Given the description of an element on the screen output the (x, y) to click on. 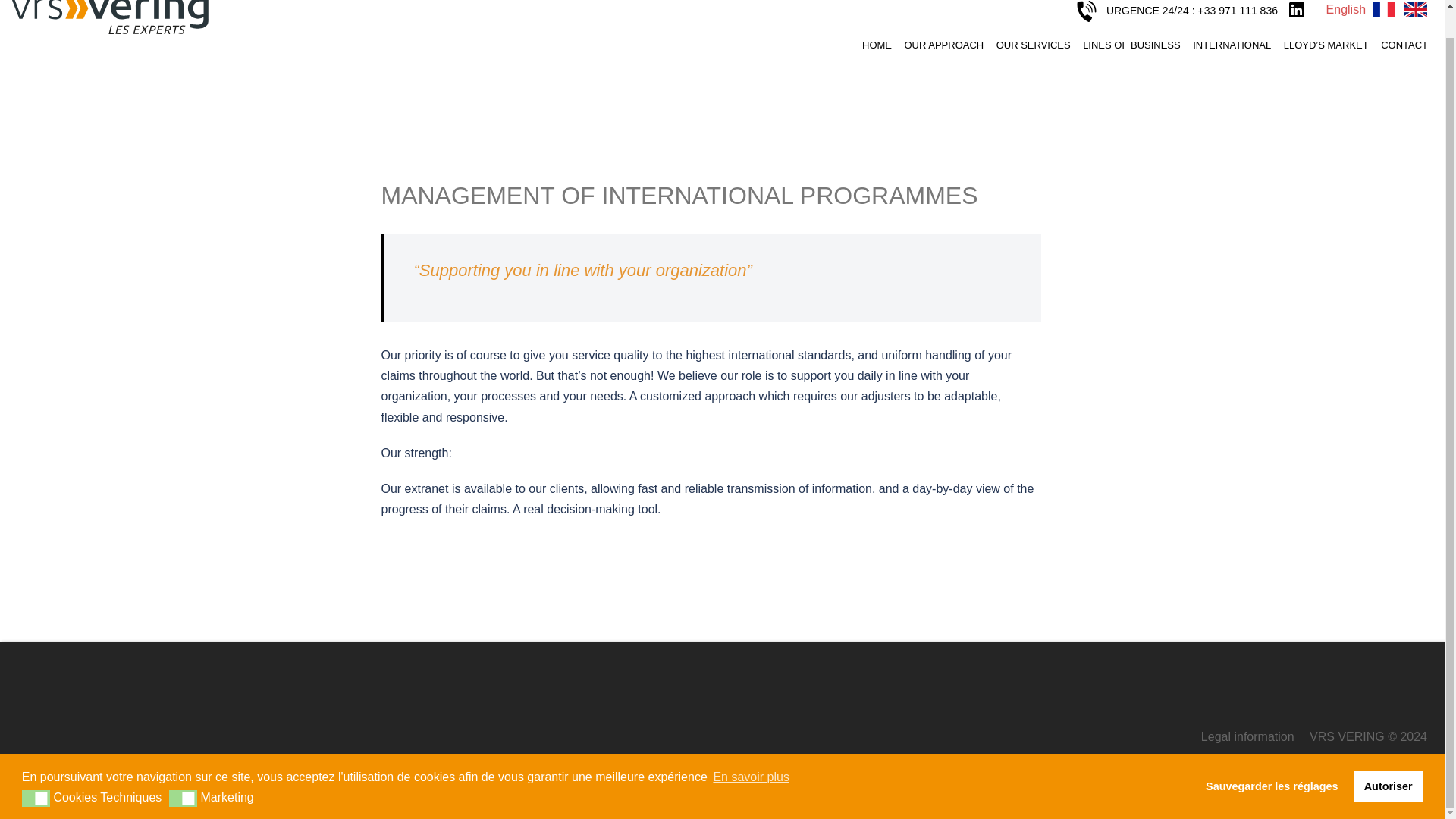
HOME (876, 44)
LINES OF BUSINESS (1131, 44)
OUR SERVICES (1032, 44)
INTERNATIONAL (1231, 44)
OUR APPROACH (944, 44)
CONTACT (1404, 44)
English (1345, 9)
English (1415, 9)
VRS VERING EXPERTS (109, 9)
LinkedIn (1296, 9)
